Given the description of an element on the screen output the (x, y) to click on. 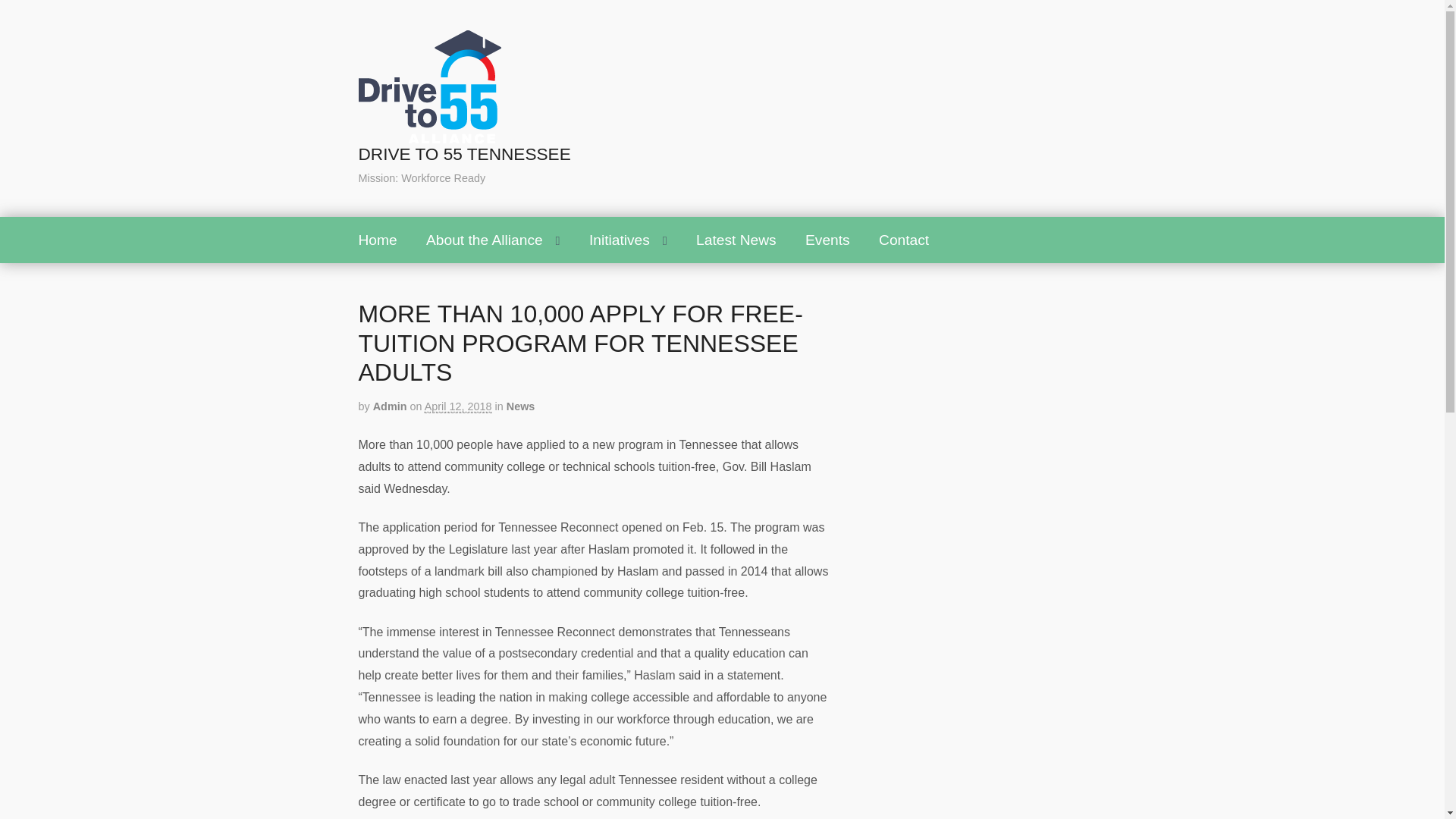
Latest News (735, 239)
Drive to 55 Tennessee (464, 153)
Contact (903, 239)
Latest News (735, 239)
DRIVE TO 55 TENNESSEE (464, 153)
Home (377, 239)
Admin (389, 406)
Contact (903, 239)
Initiatives (628, 239)
About the Alliance (493, 239)
